Given the description of an element on the screen output the (x, y) to click on. 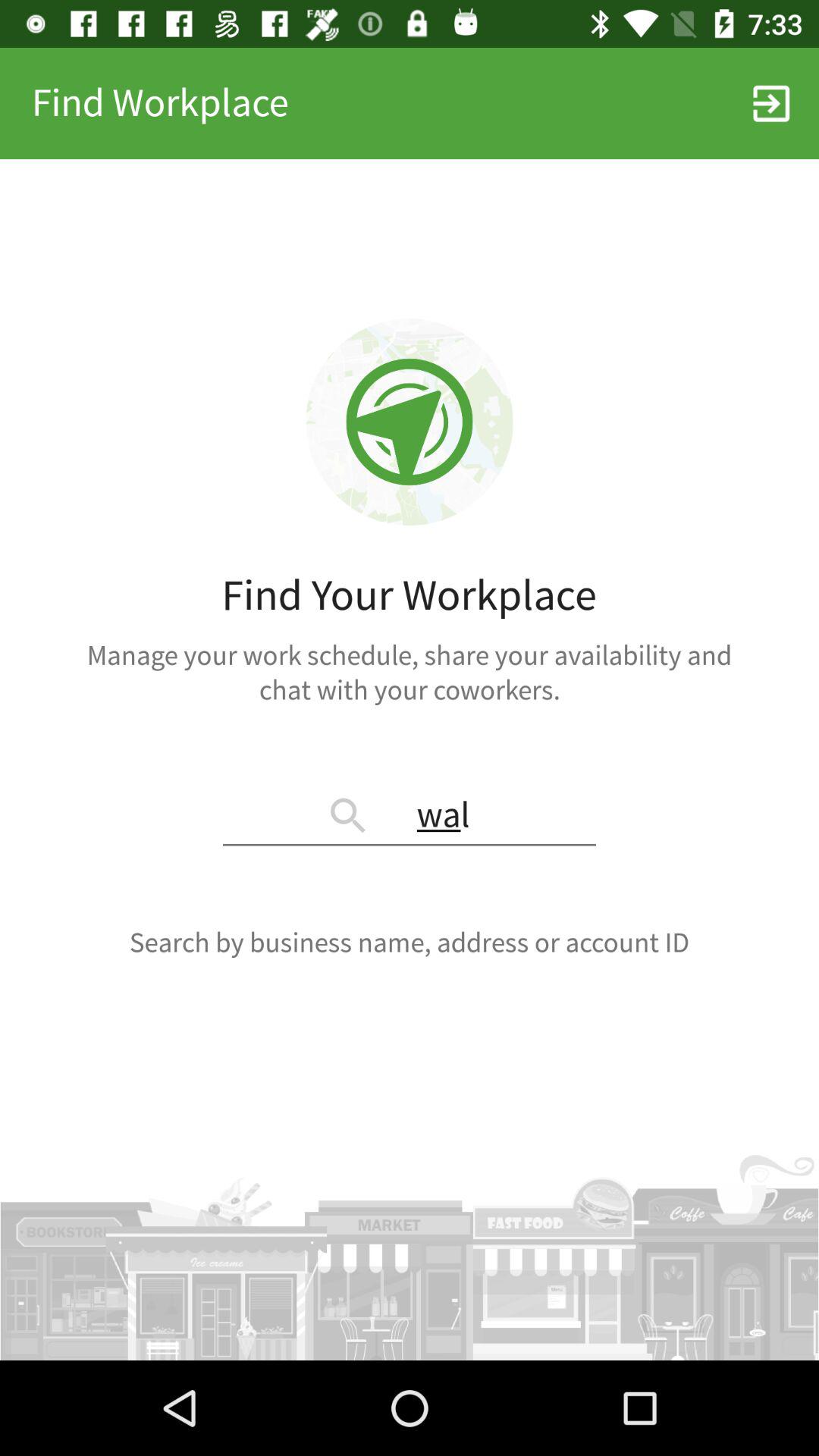
choose item below the manage your work (409, 816)
